Given the description of an element on the screen output the (x, y) to click on. 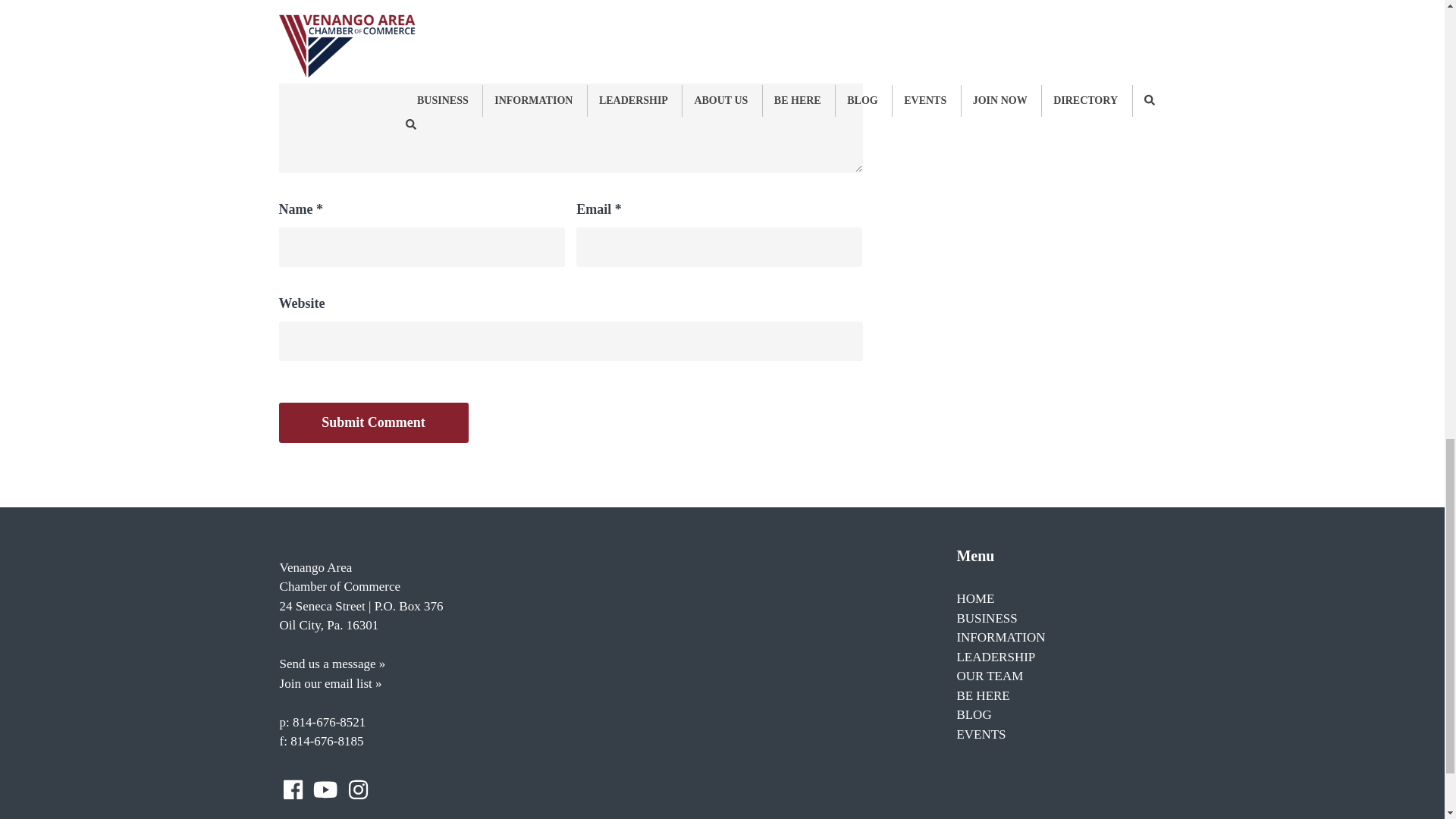
Submit Comment (373, 422)
